Given the description of an element on the screen output the (x, y) to click on. 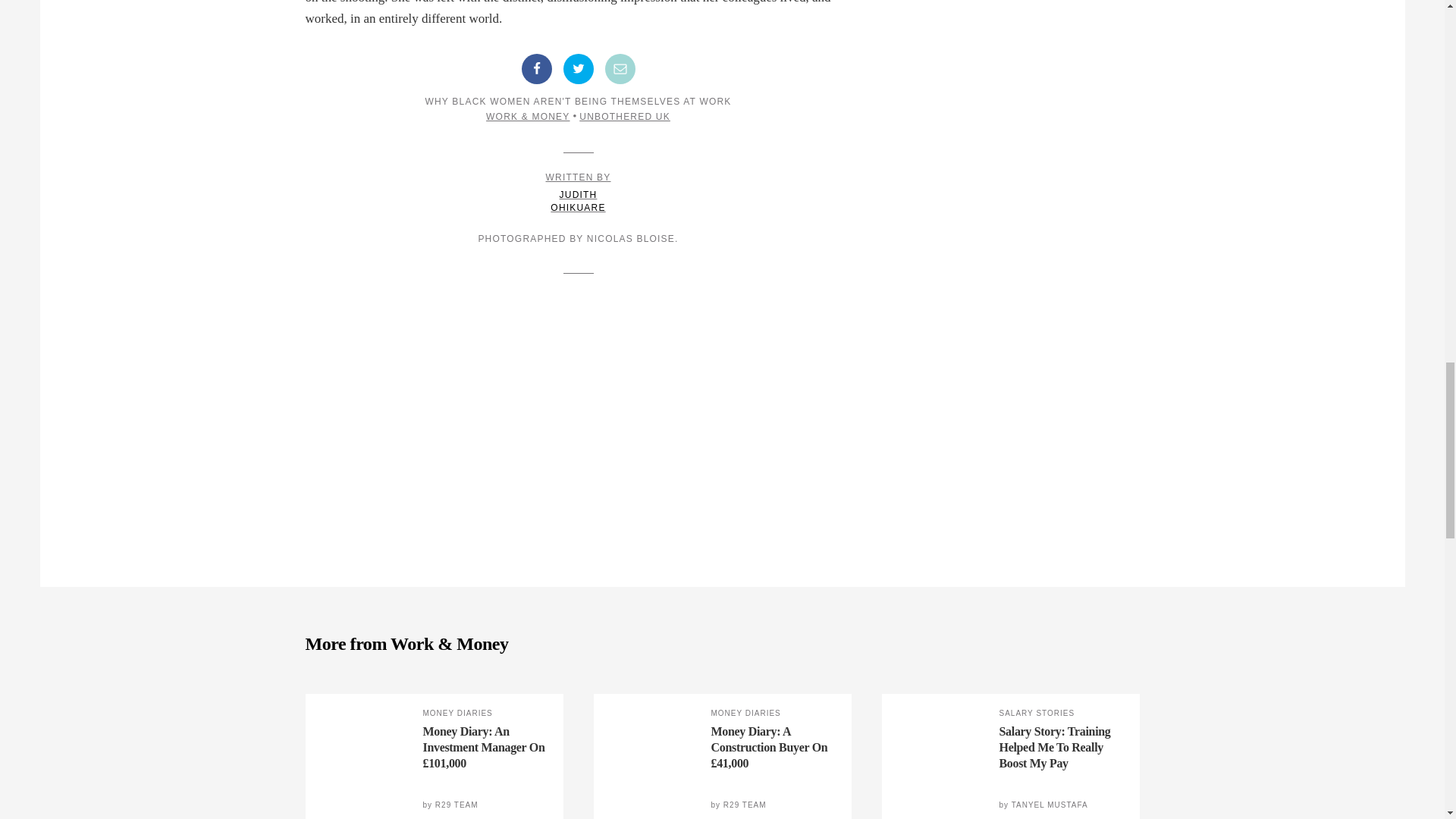
Share by Email (619, 69)
UNBOTHERED UK (624, 116)
Share on Twitter (577, 69)
